Given the description of an element on the screen output the (x, y) to click on. 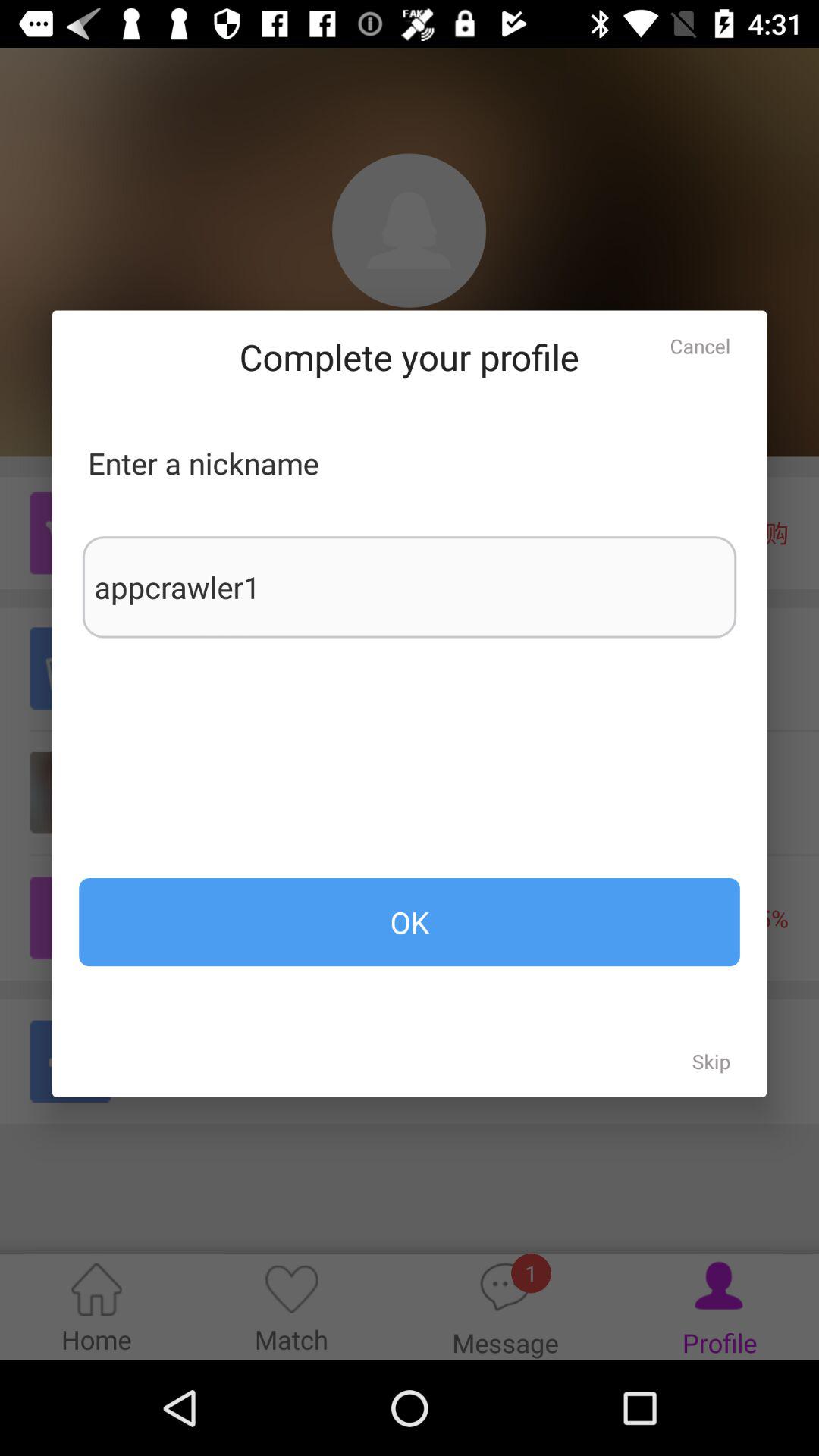
open cancel at the top right corner (700, 345)
